Given the description of an element on the screen output the (x, y) to click on. 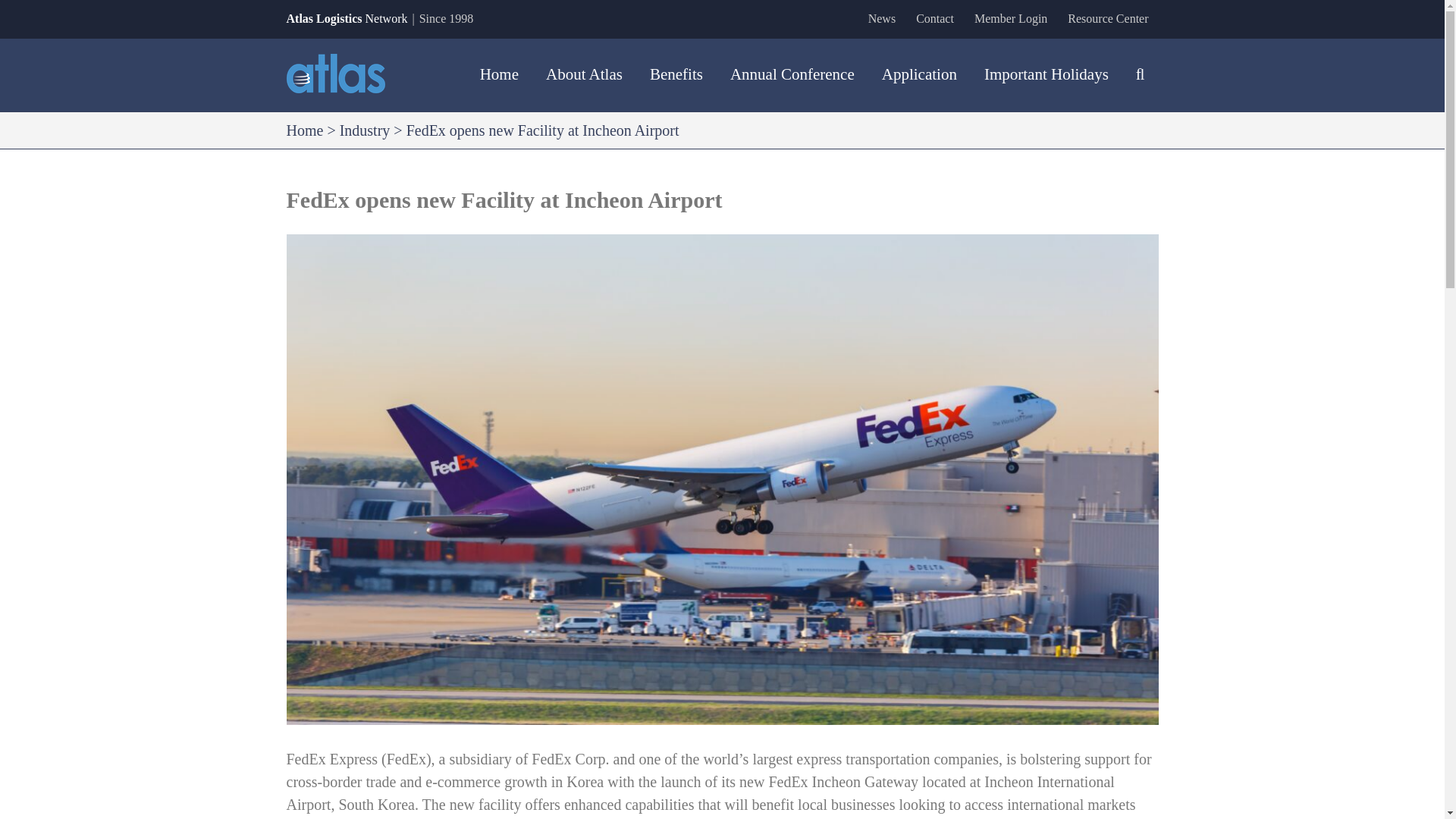
Application (919, 74)
Home (304, 130)
Important Holidays (1046, 74)
Industry (364, 130)
About Atlas (584, 74)
News (882, 18)
Since 1998 (446, 18)
Resource Center (1107, 18)
Annual Conference (791, 74)
